Given the description of an element on the screen output the (x, y) to click on. 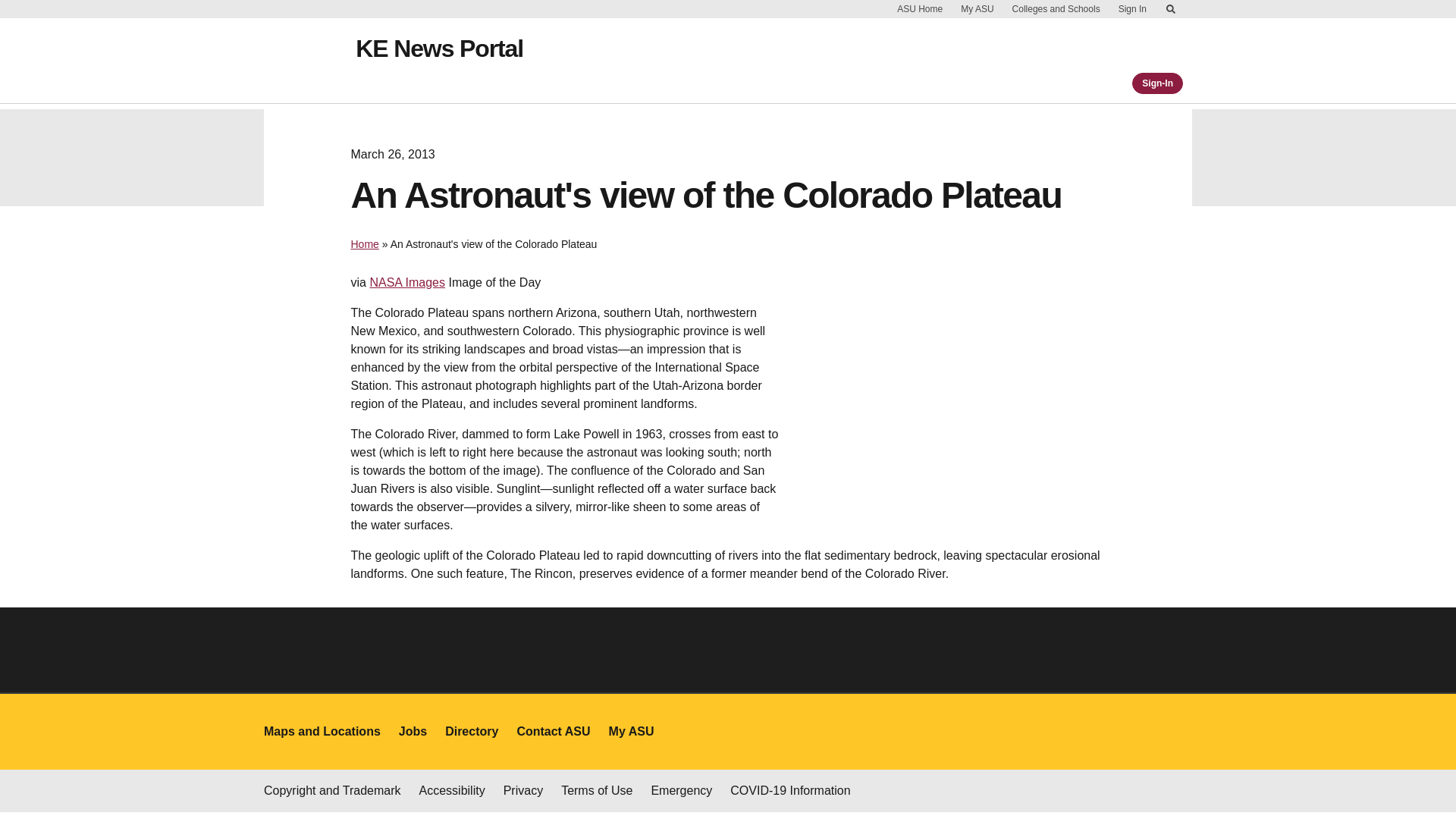
ASU home (314, 60)
My ASU (976, 8)
Sign In (1132, 8)
Home (364, 244)
NASA Images (407, 282)
Skip to Content (1170, 8)
Sign-In (1157, 83)
Colleges and Schools (1056, 8)
ASU Home (920, 8)
